Given the description of an element on the screen output the (x, y) to click on. 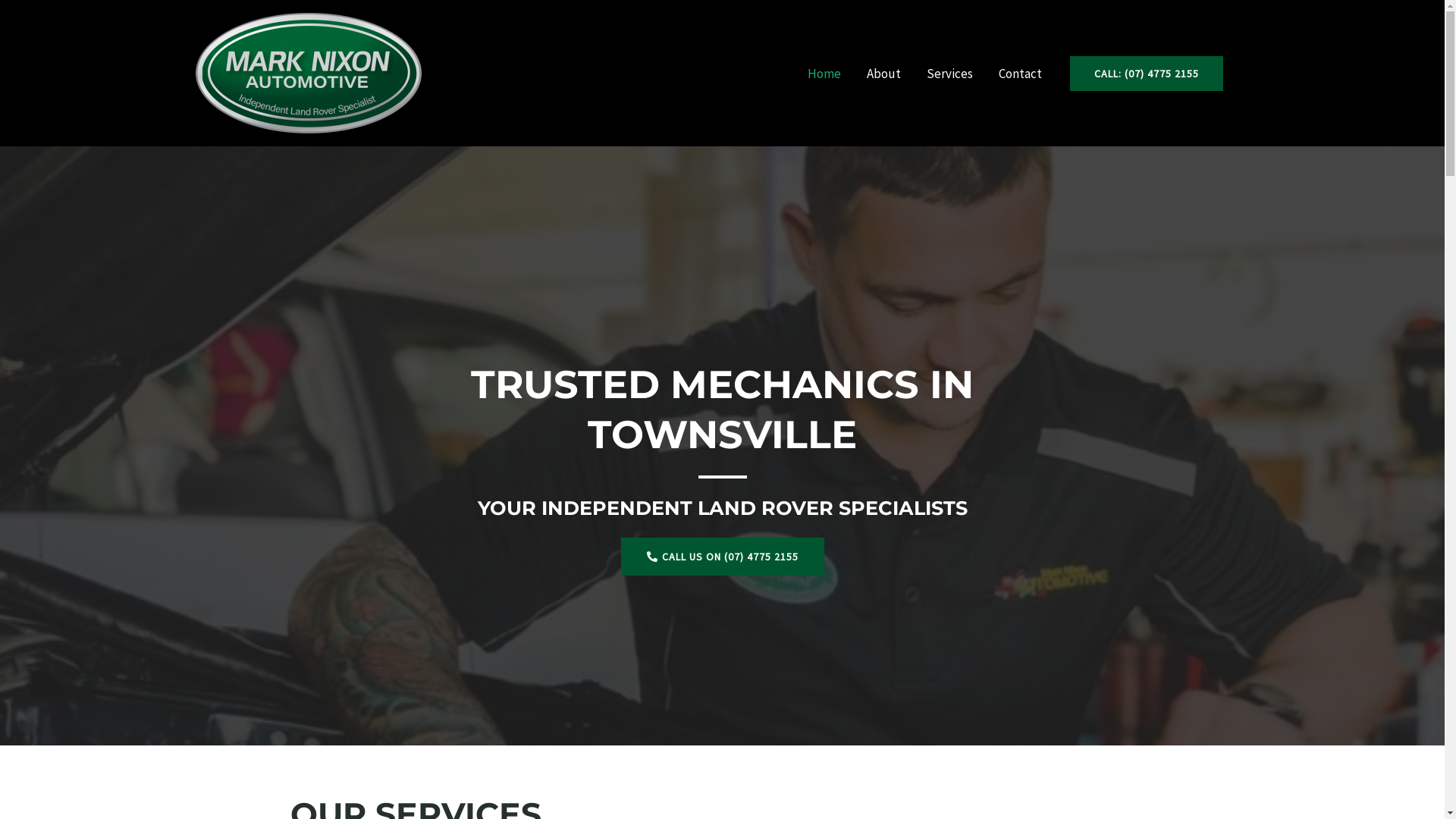
Contact Element type: text (1019, 72)
Services Element type: text (949, 72)
Home Element type: text (823, 72)
About Element type: text (883, 72)
CALL: (07) 4775 2155 Element type: text (1140, 73)
CALL US ON (07) 4775 2155 Element type: text (721, 556)
